Given the description of an element on the screen output the (x, y) to click on. 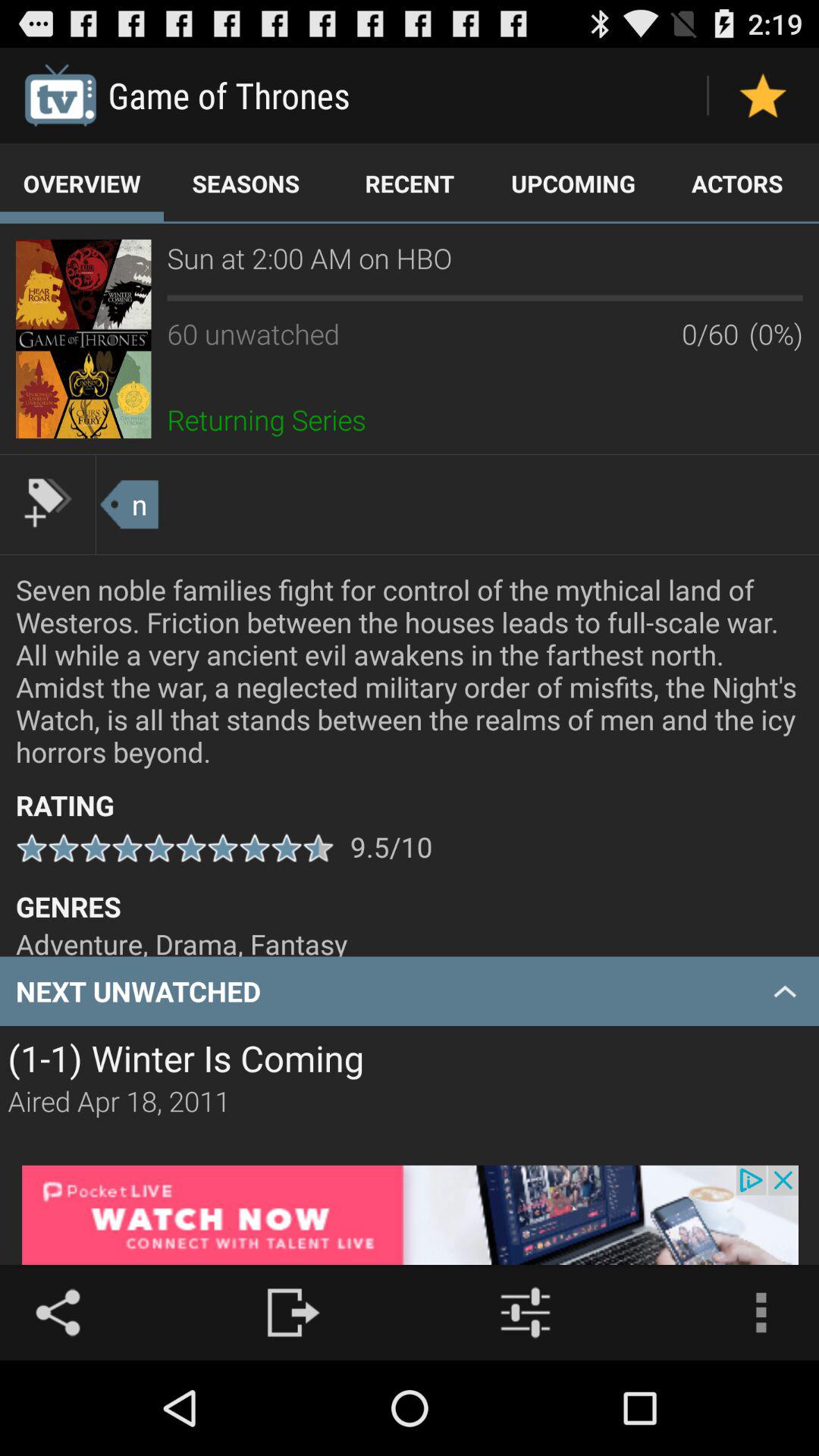
go to advertisement link (409, 1214)
